Given the description of an element on the screen output the (x, y) to click on. 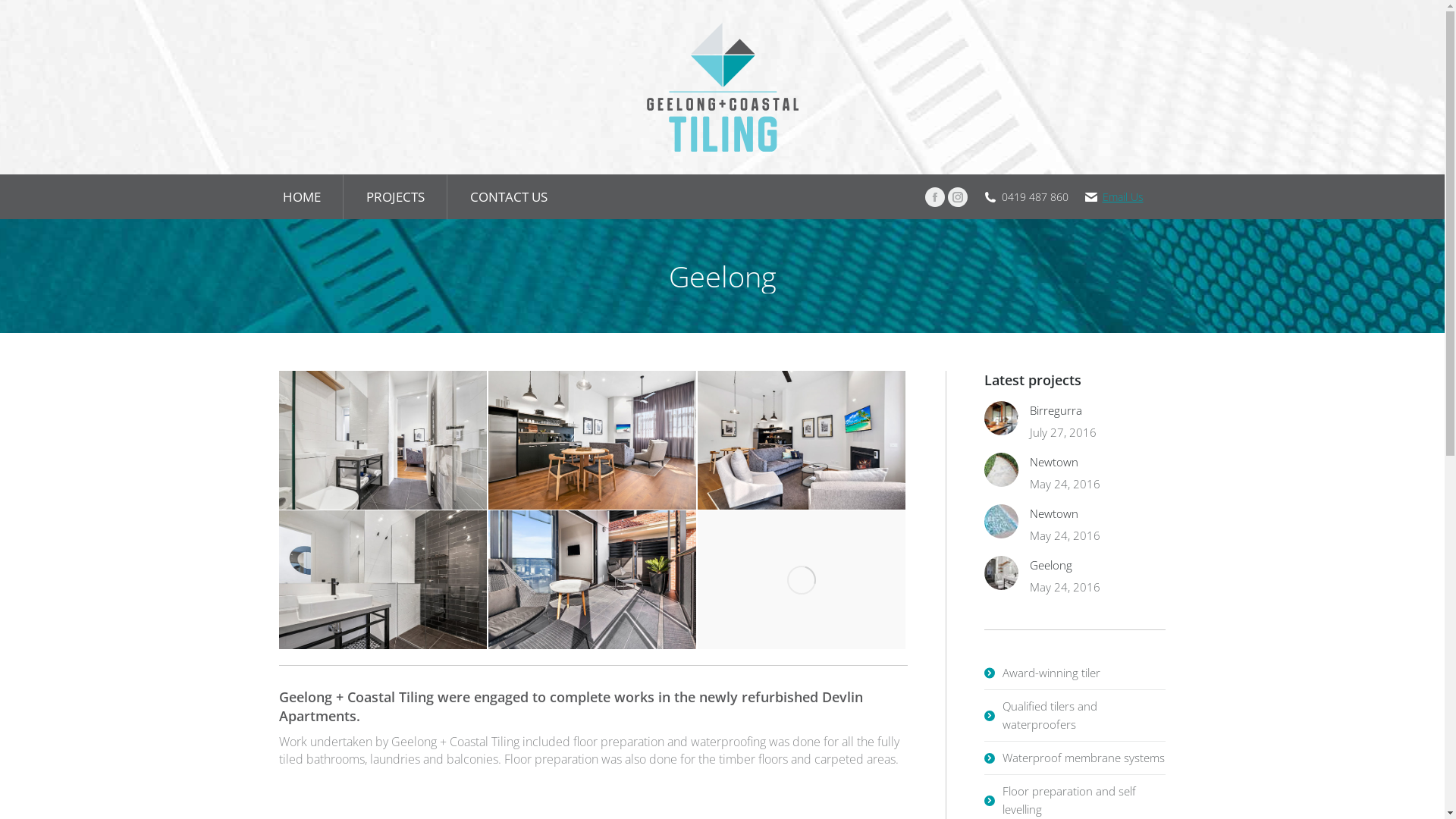
Newtown Element type: text (1053, 513)
Newtown Element type: text (1053, 461)
Facebook page opens in new window Element type: text (934, 196)
Geelong Element type: text (1050, 564)
HOME Element type: text (301, 196)
Email Us Element type: text (1122, 196)
Birregurra Element type: text (1055, 410)
CONTACT US Element type: text (507, 196)
Instagram page opens in new window Element type: text (957, 196)
PROJECTS Element type: text (395, 196)
